Given the description of an element on the screen output the (x, y) to click on. 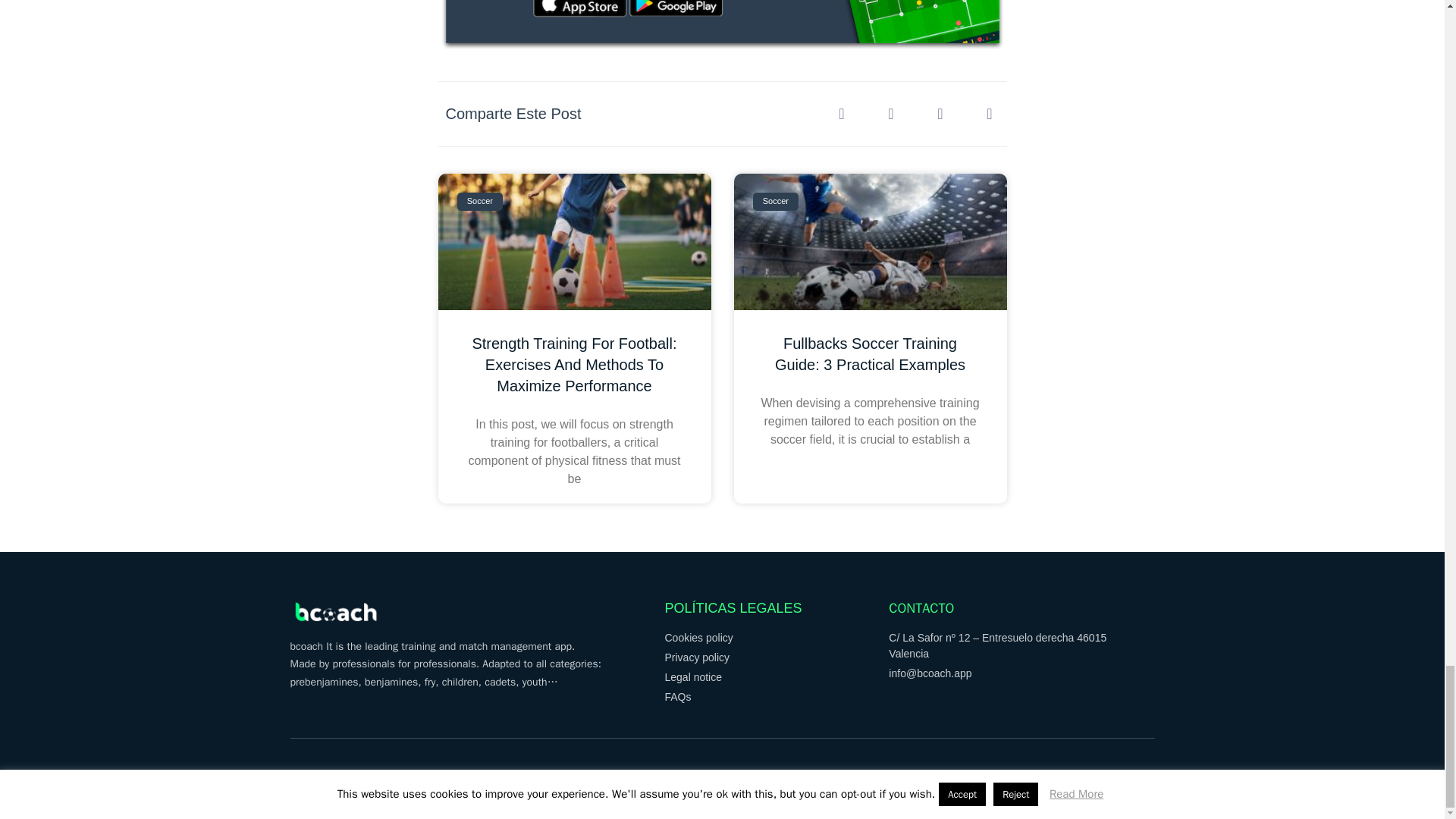
Fullbacks Soccer Training Guide: 3 Practical Examples (869, 353)
Cookies policy (775, 637)
Privacy policy (775, 657)
Legal notice (775, 677)
FAQs (775, 697)
